Given the description of an element on the screen output the (x, y) to click on. 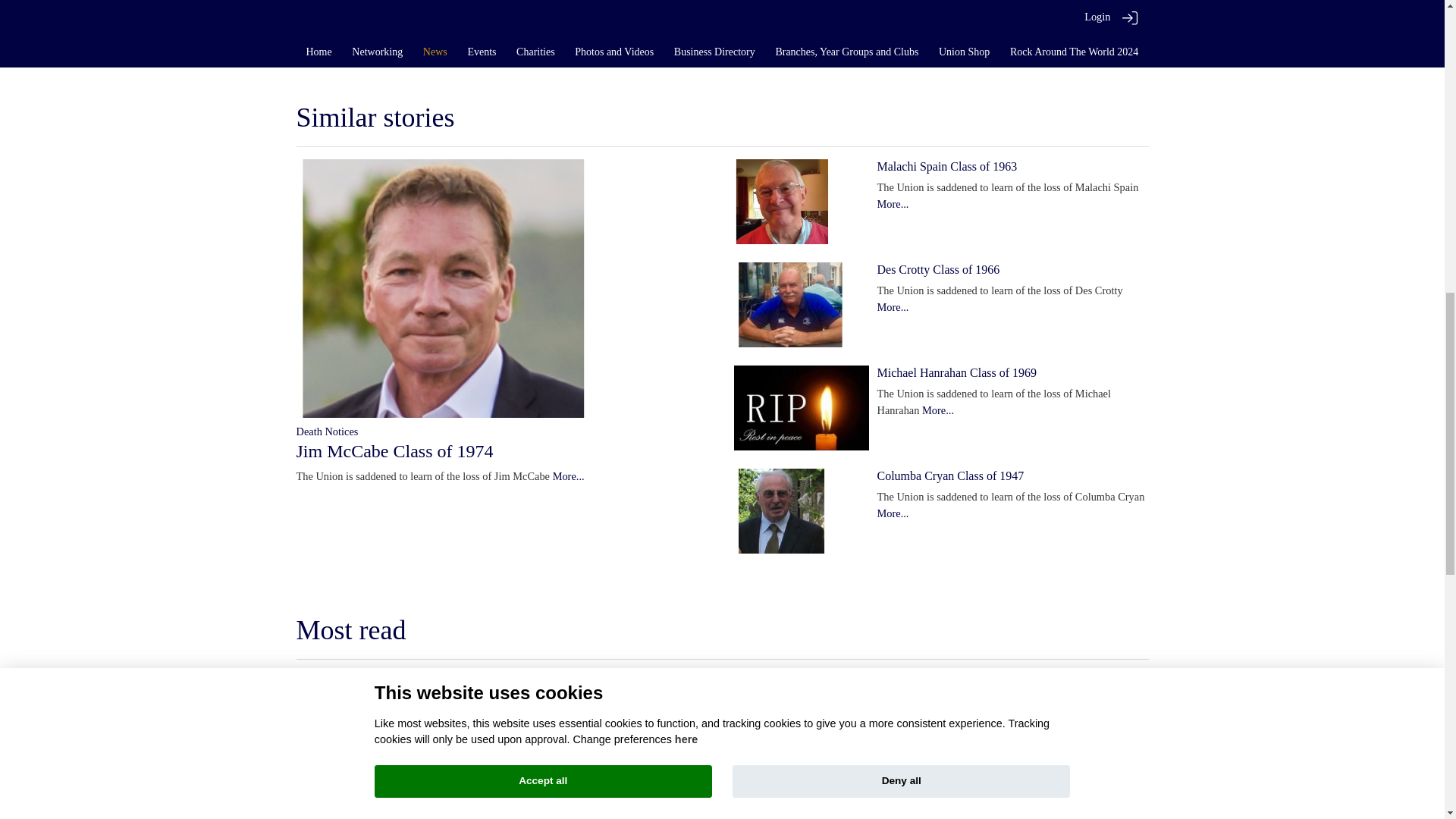
RIP.ie Notice (443, 40)
Death Notices (326, 431)
